Given the description of an element on the screen output the (x, y) to click on. 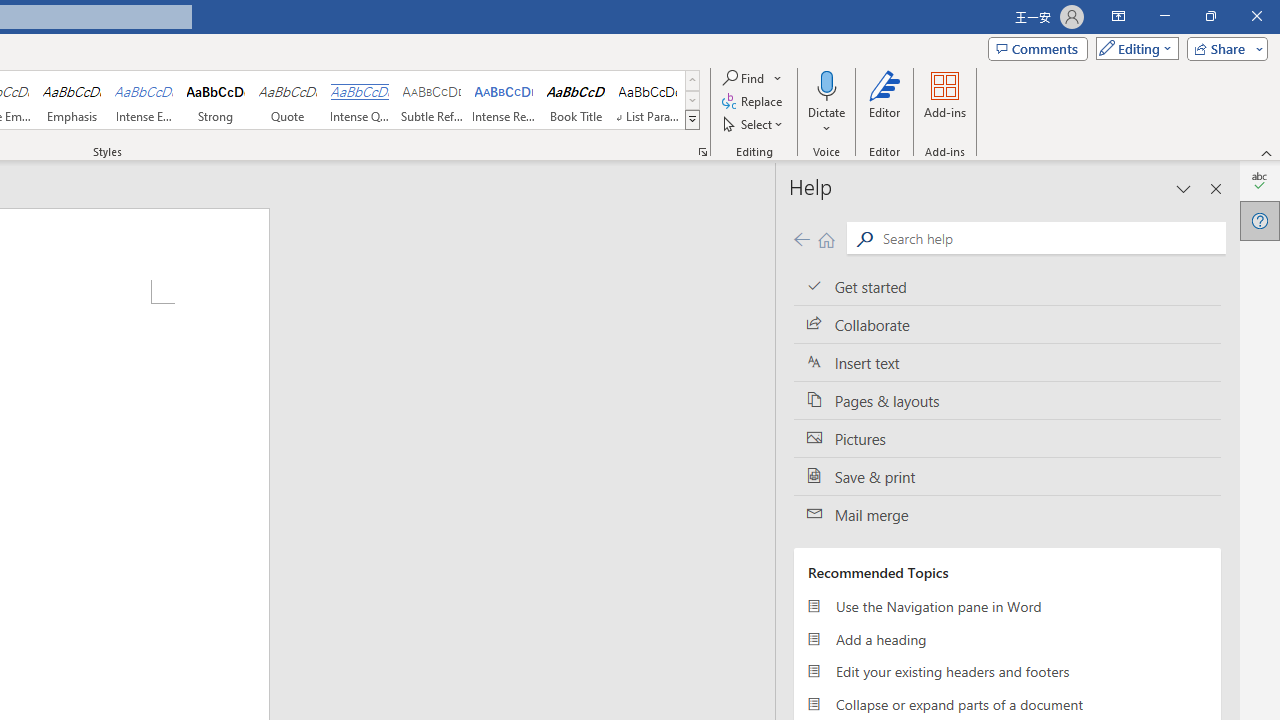
Save & print (1007, 476)
Use the Navigation pane in Word (1007, 605)
Styles (692, 120)
Intense Quote (359, 100)
Row up (692, 79)
Replace... (753, 101)
Search (864, 238)
Intense Reference (504, 100)
Get started (1007, 286)
Insert text (1007, 363)
Edit your existing headers and footers (1007, 672)
Add a heading (1007, 638)
Book Title (575, 100)
Select (754, 124)
